Given the description of an element on the screen output the (x, y) to click on. 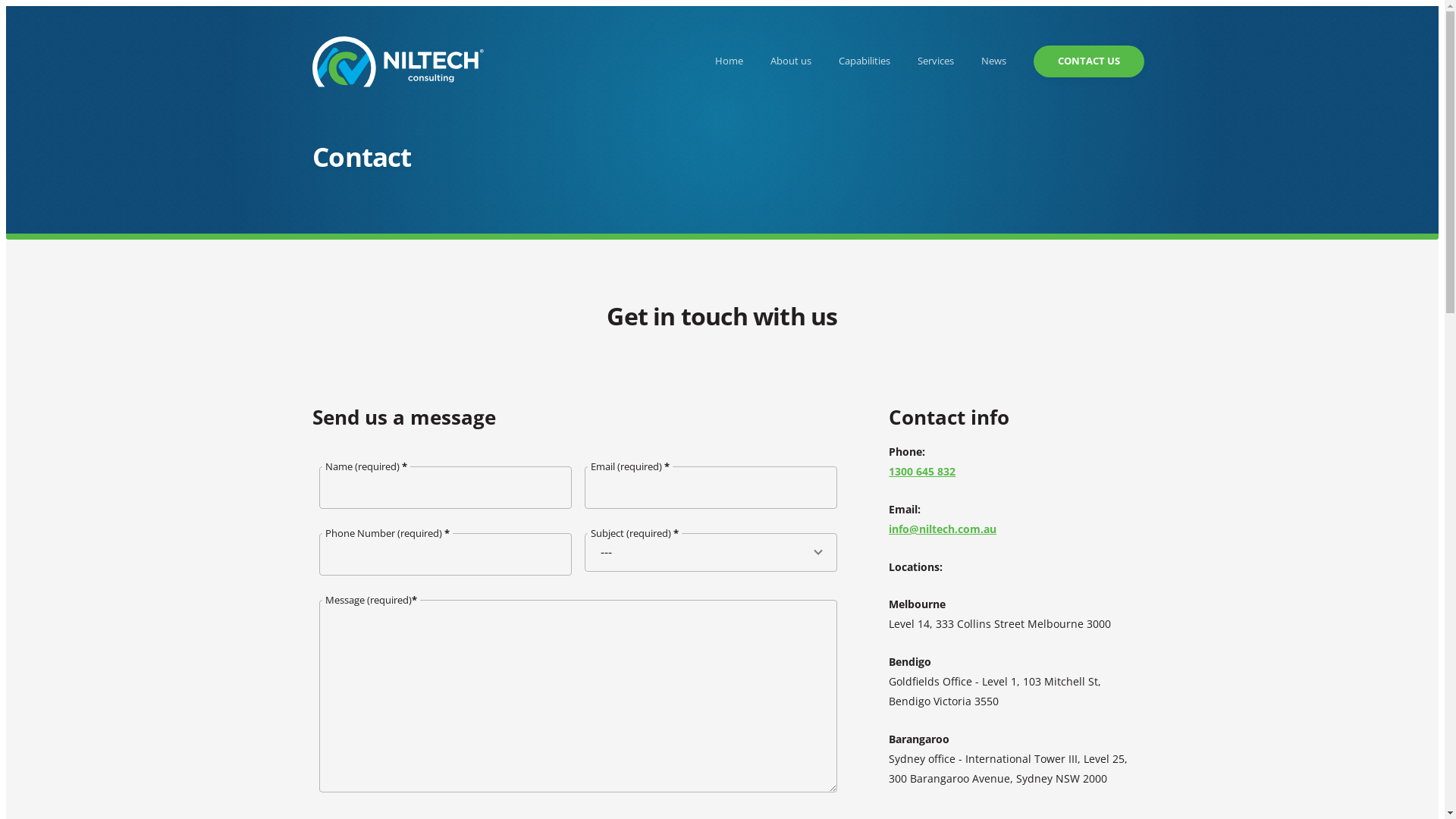
CONTACT US Element type: text (1088, 61)
info@niltech.com.au Element type: text (942, 529)
Capabilities Element type: text (864, 61)
1300 645 832 Element type: text (921, 471)
About us Element type: text (790, 61)
News Element type: text (993, 61)
Home Element type: text (728, 61)
Services Element type: text (935, 61)
